Given the description of an element on the screen output the (x, y) to click on. 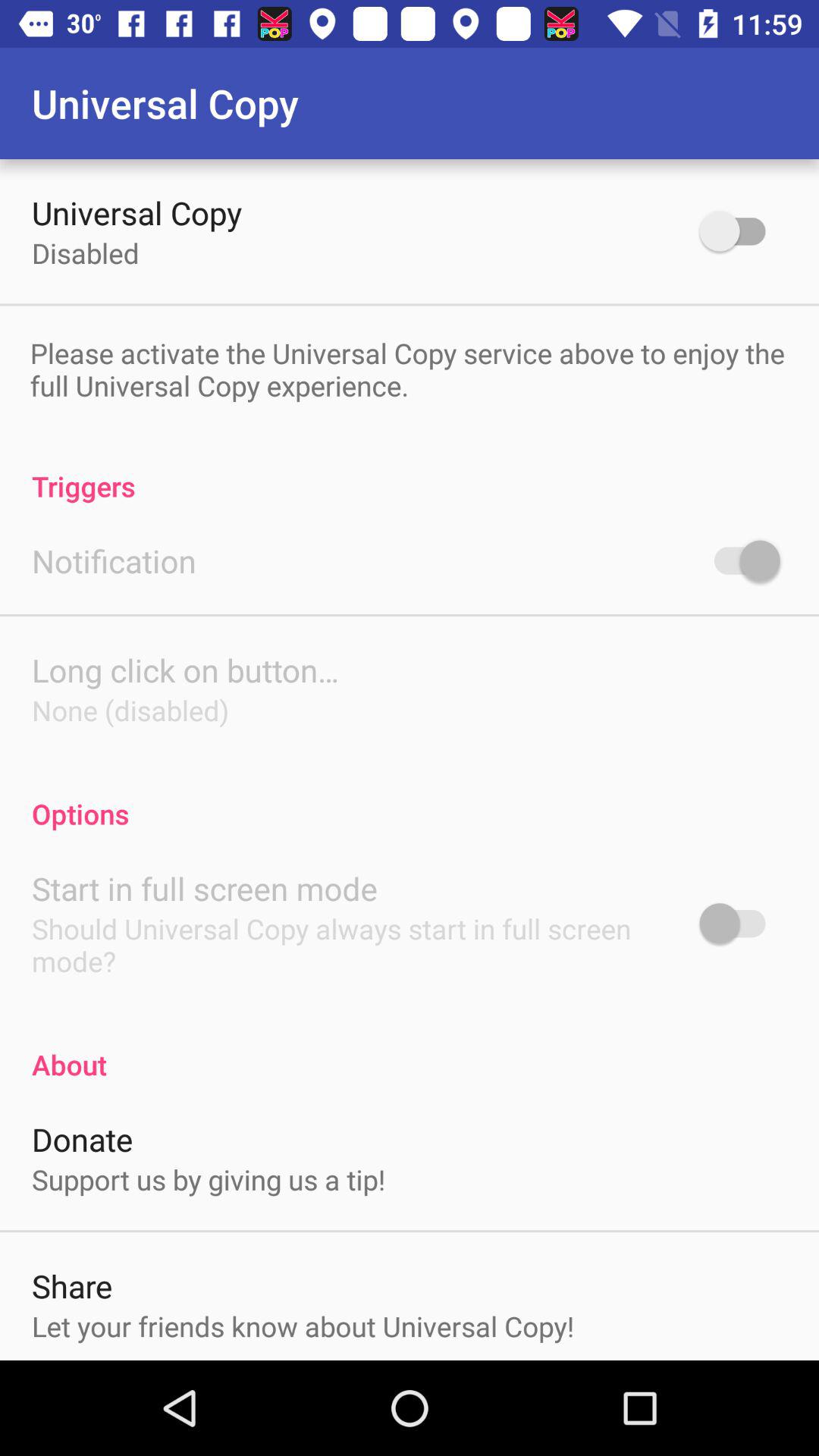
swipe to notification (113, 560)
